Given the description of an element on the screen output the (x, y) to click on. 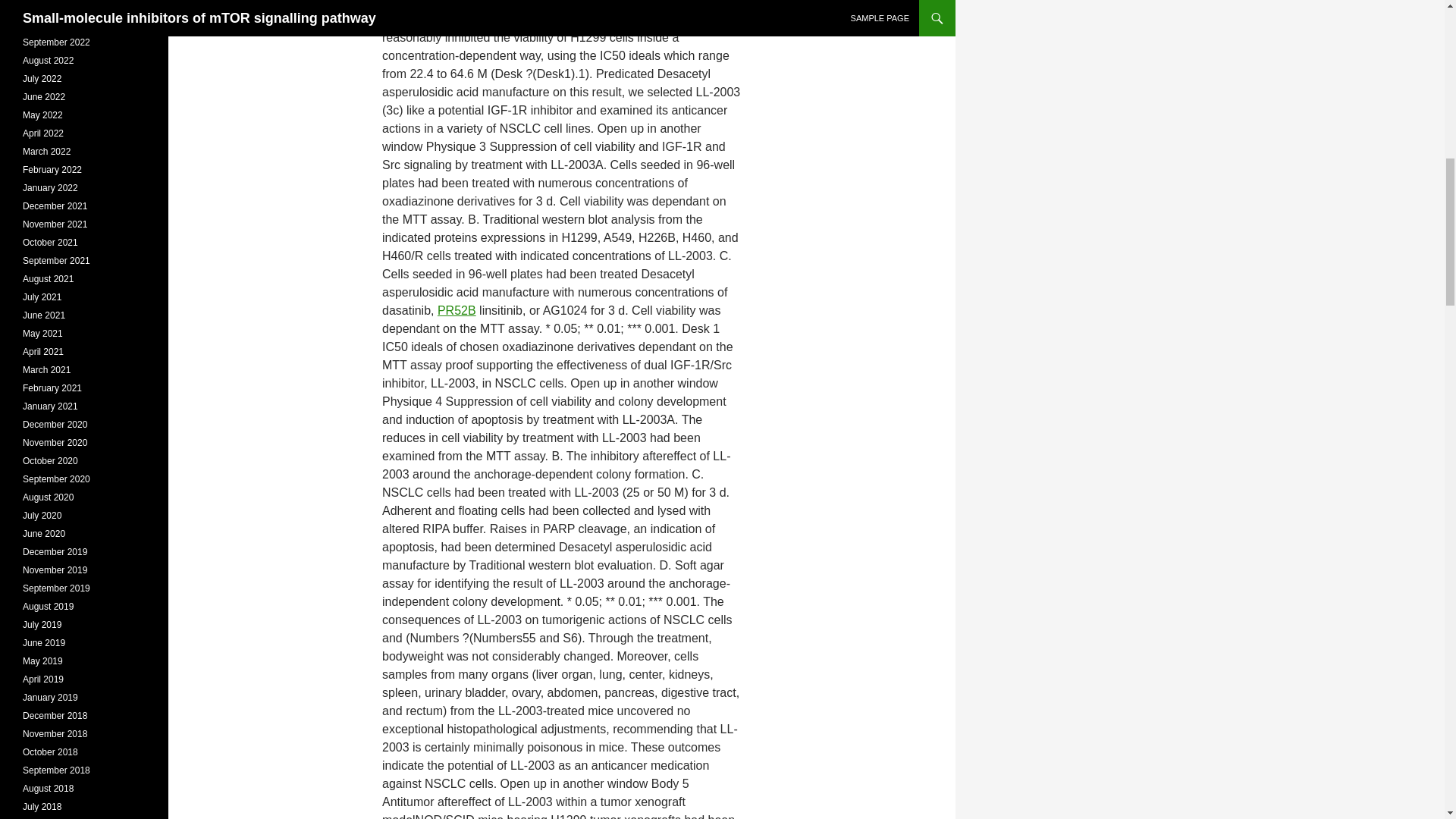
September 2022 (56, 41)
June 2022 (44, 96)
November 2022 (55, 5)
April 2022 (43, 132)
August 2022 (48, 60)
PR52B (457, 309)
July 2022 (42, 78)
October 2022 (50, 23)
May 2022 (42, 114)
